Given the description of an element on the screen output the (x, y) to click on. 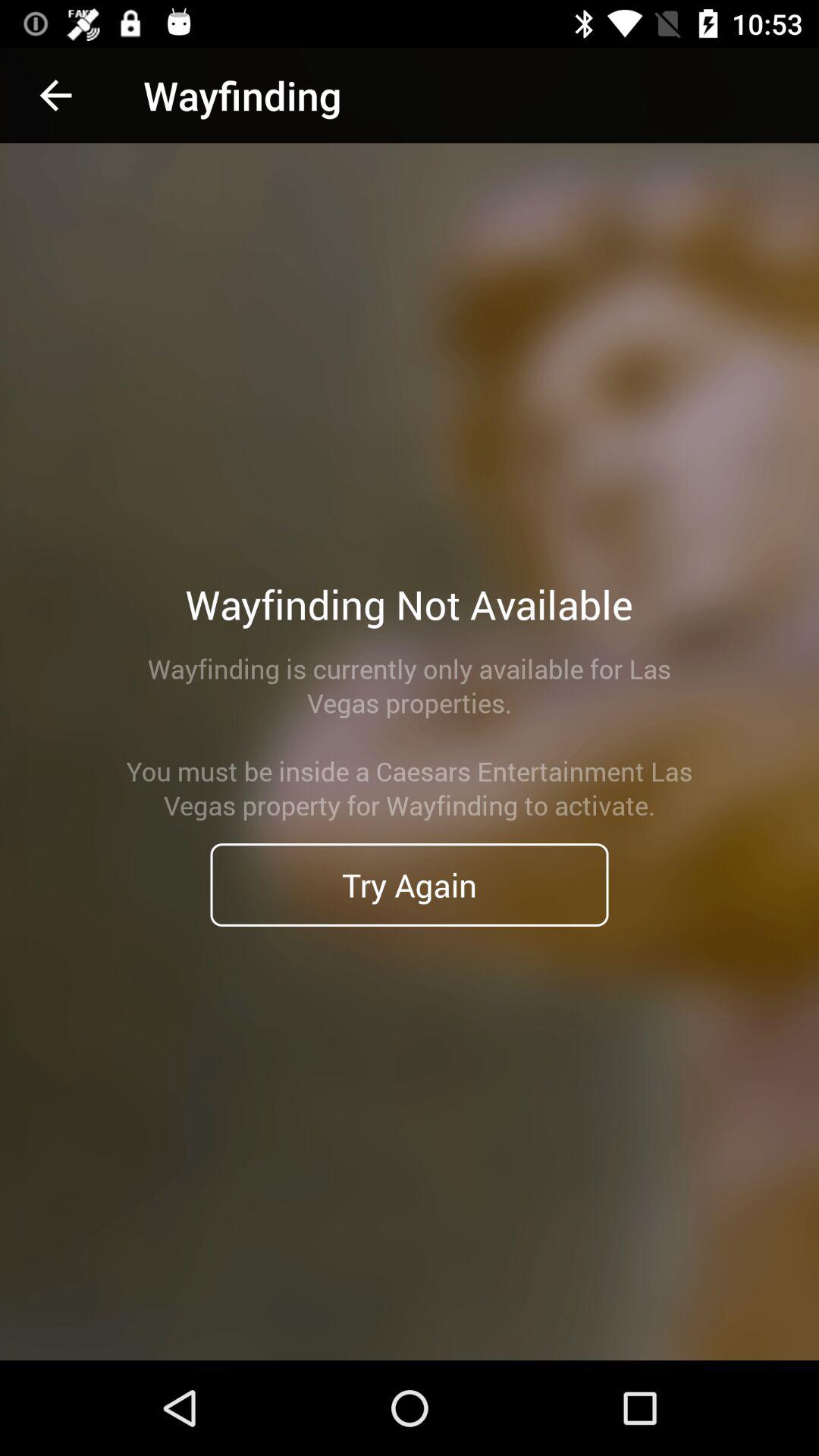
open try again item (409, 884)
